Given the description of an element on the screen output the (x, y) to click on. 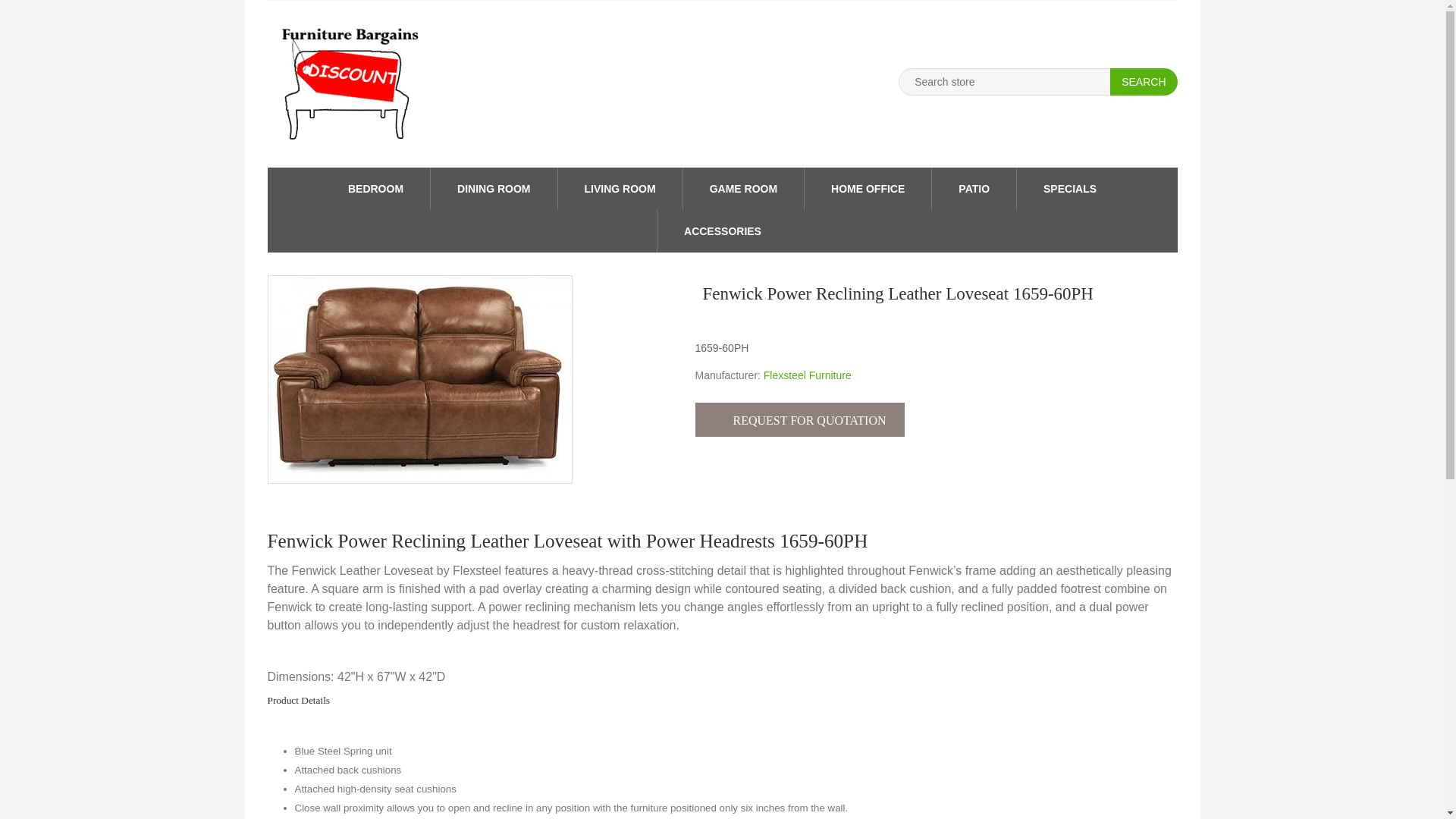
Search (1142, 81)
Search (1142, 81)
BEDROOM (376, 188)
GAME ROOM (743, 188)
LIVING ROOM (620, 188)
Search (1142, 81)
DINING ROOM (493, 188)
HOME OFFICE (867, 188)
Request For Quotation (799, 419)
